Given the description of an element on the screen output the (x, y) to click on. 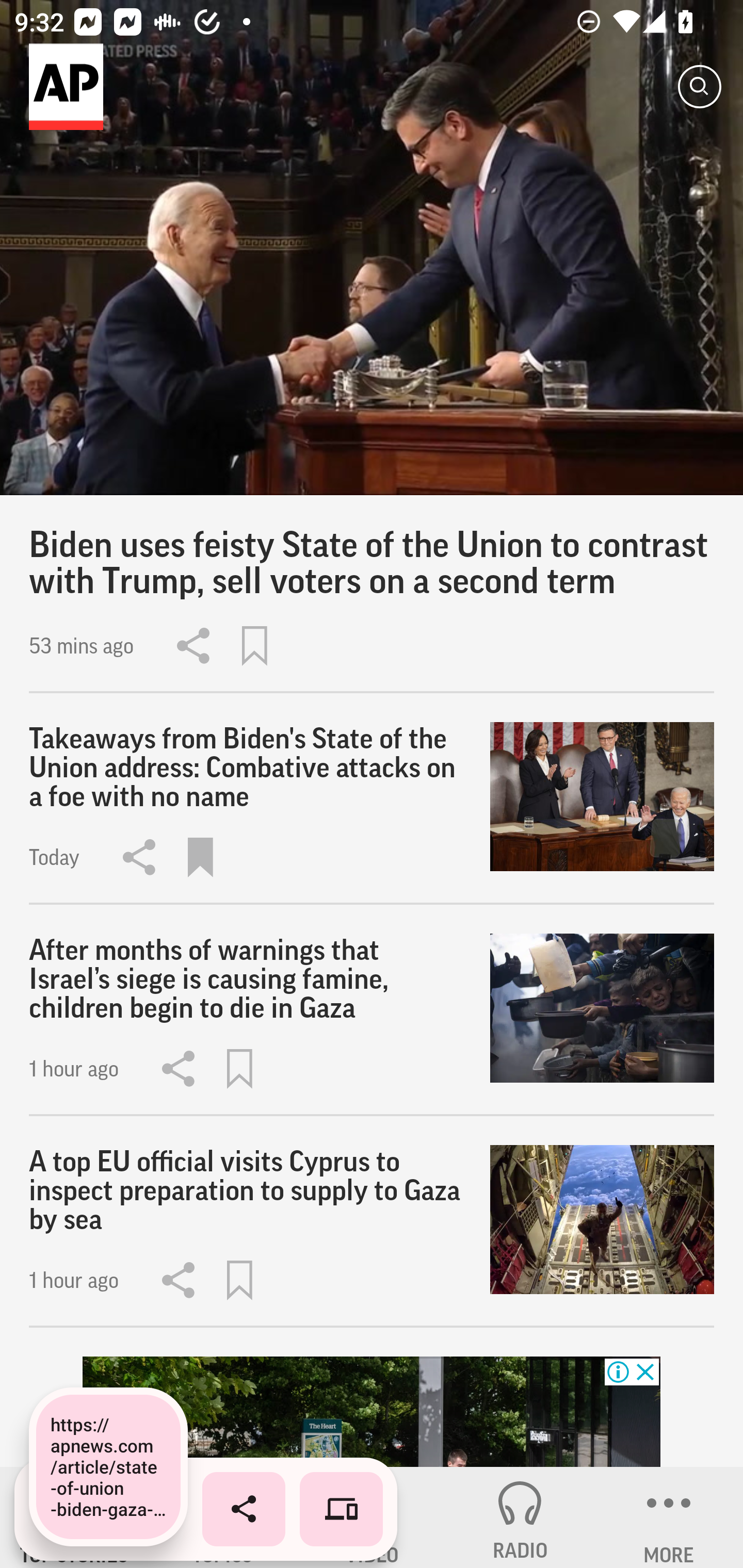
TOPICS (222, 1517)
VIDEO (371, 1517)
RADIO (519, 1517)
MORE (668, 1517)
